Given the description of an element on the screen output the (x, y) to click on. 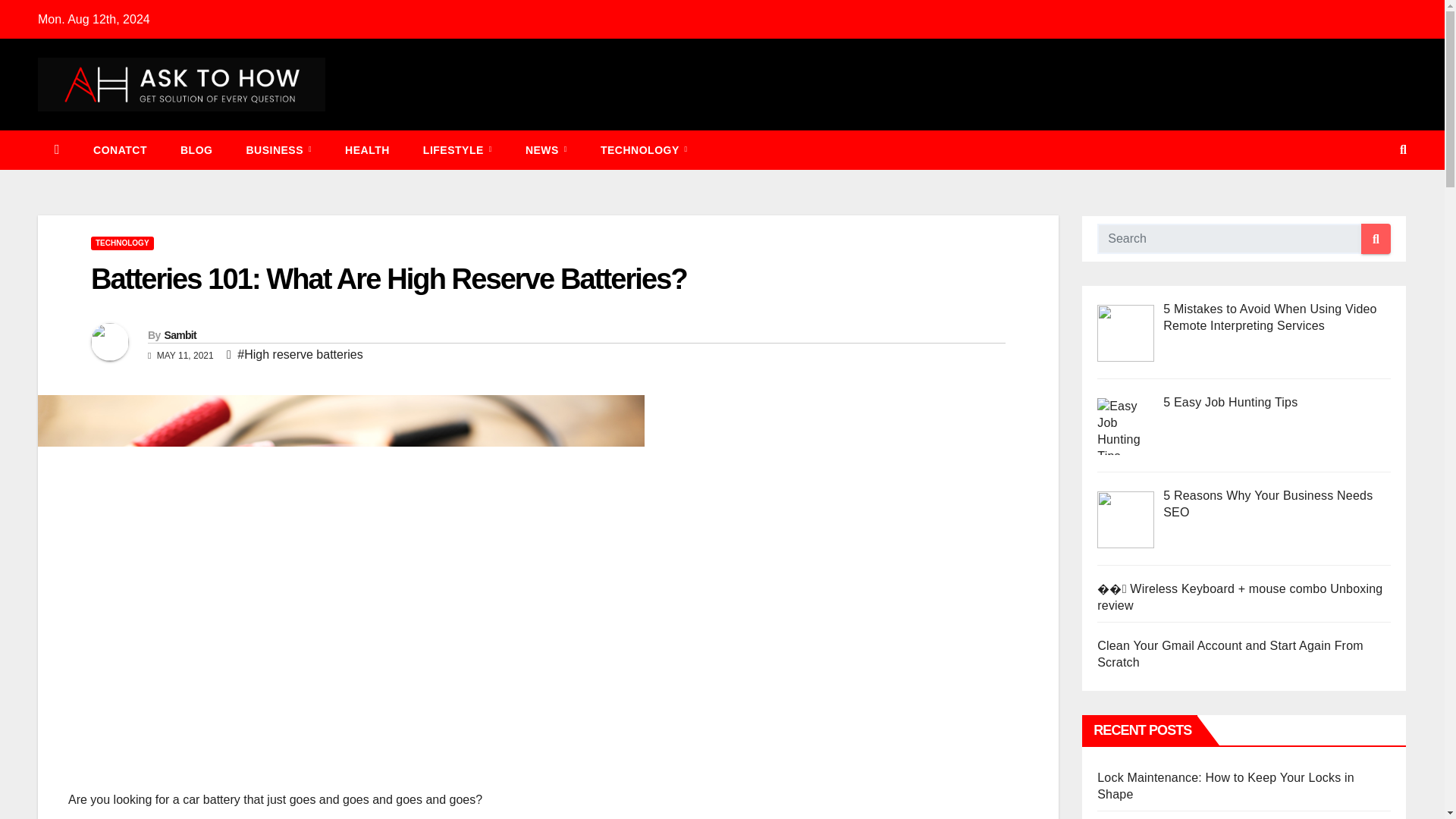
NEWS (545, 149)
LIFESTYLE (457, 149)
Batteries 101: What Are High Reserve Batteries? (388, 278)
BLOG (195, 149)
Conatct (120, 149)
TECHNOLOGY (122, 243)
CONATCT (120, 149)
TECHNOLOGY (643, 149)
Blog (195, 149)
Lifestyle (457, 149)
